Given the description of an element on the screen output the (x, y) to click on. 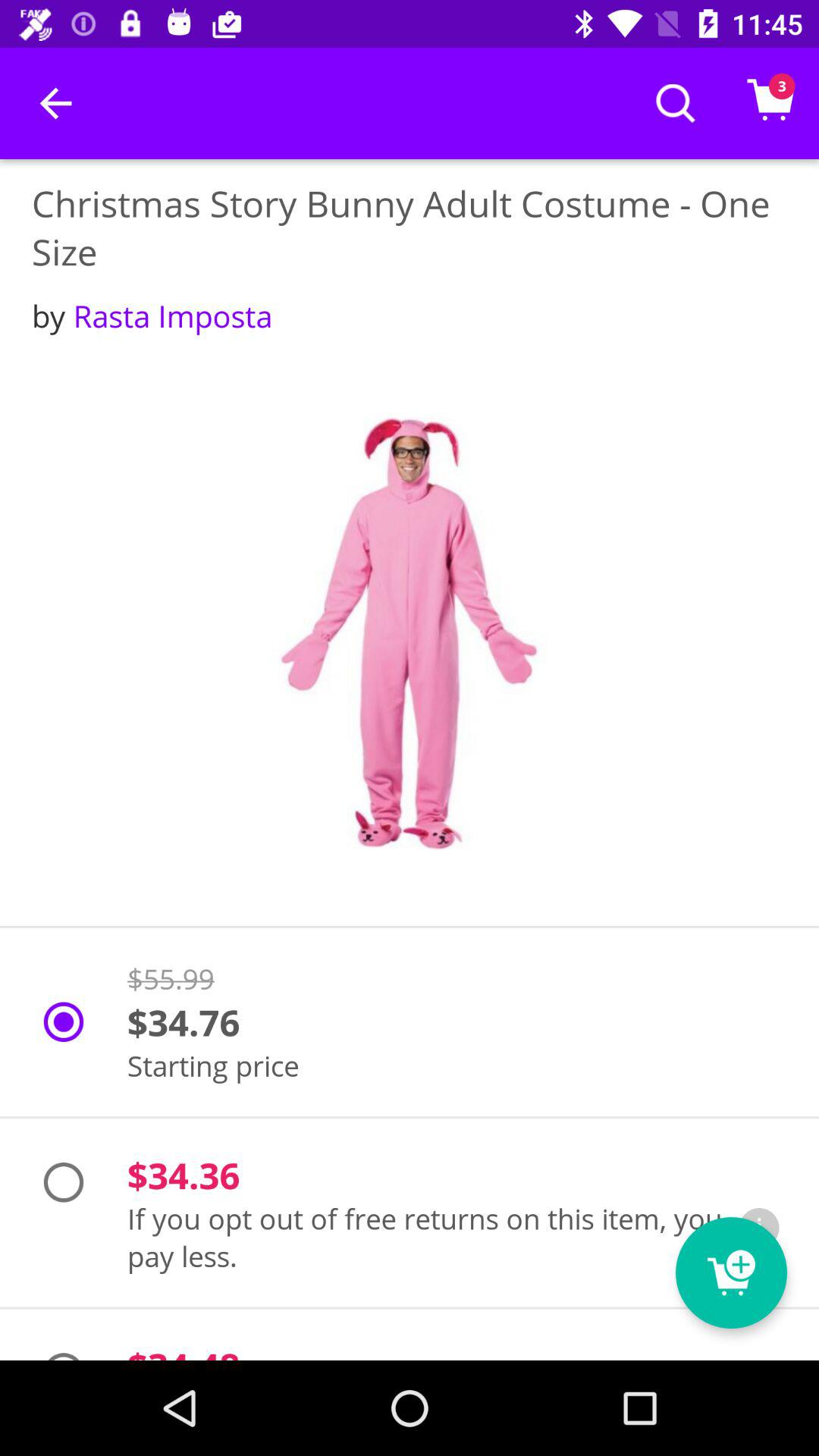
tap the icon to the right of the $34.48 icon (731, 1272)
